Given the description of an element on the screen output the (x, y) to click on. 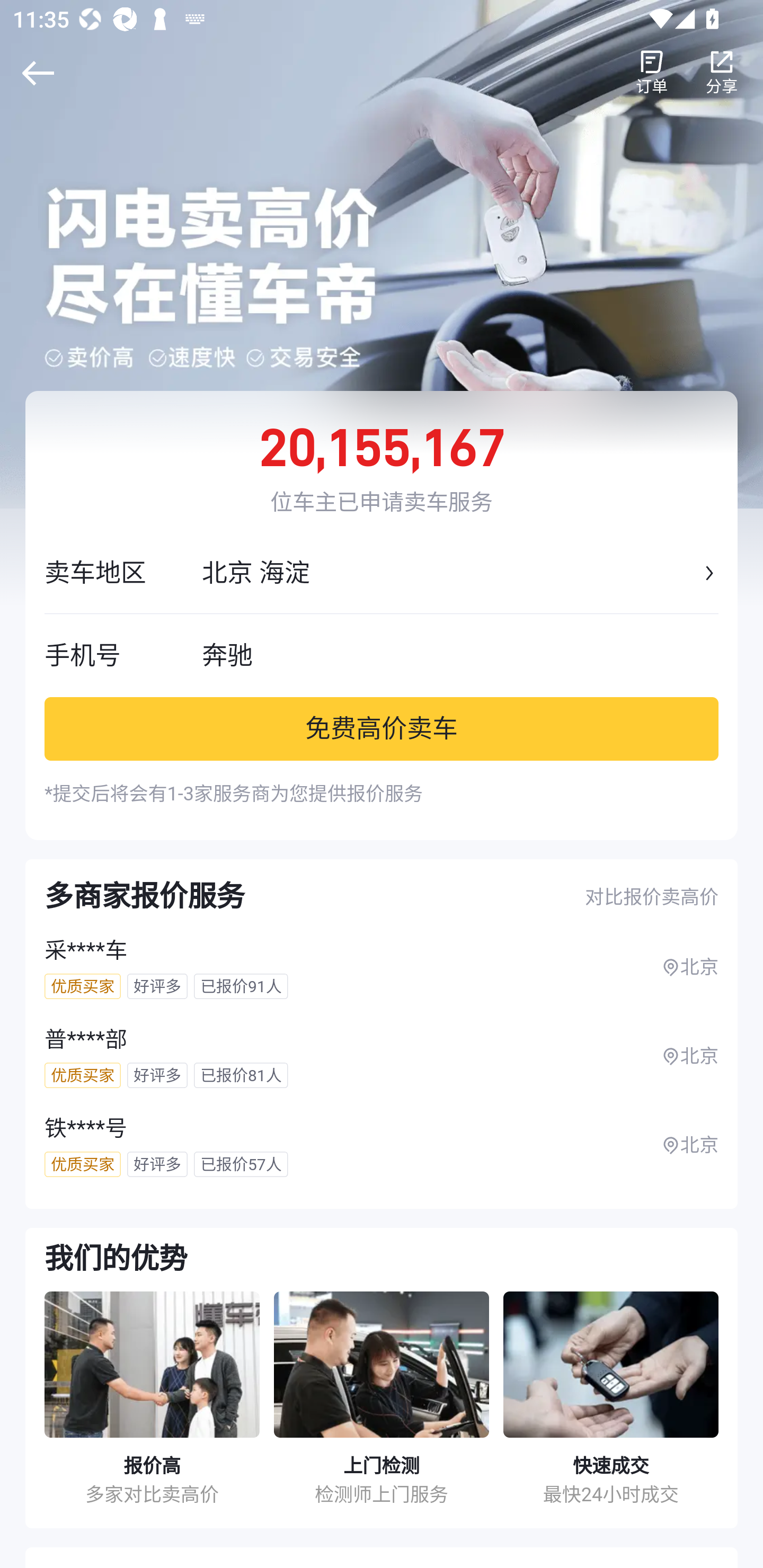
订单 (651, 72)
分享 (721, 72)
北京 海淀 (450, 572)
奔驰 (460, 655)
免费高价卖车 (381, 728)
